Given the description of an element on the screen output the (x, y) to click on. 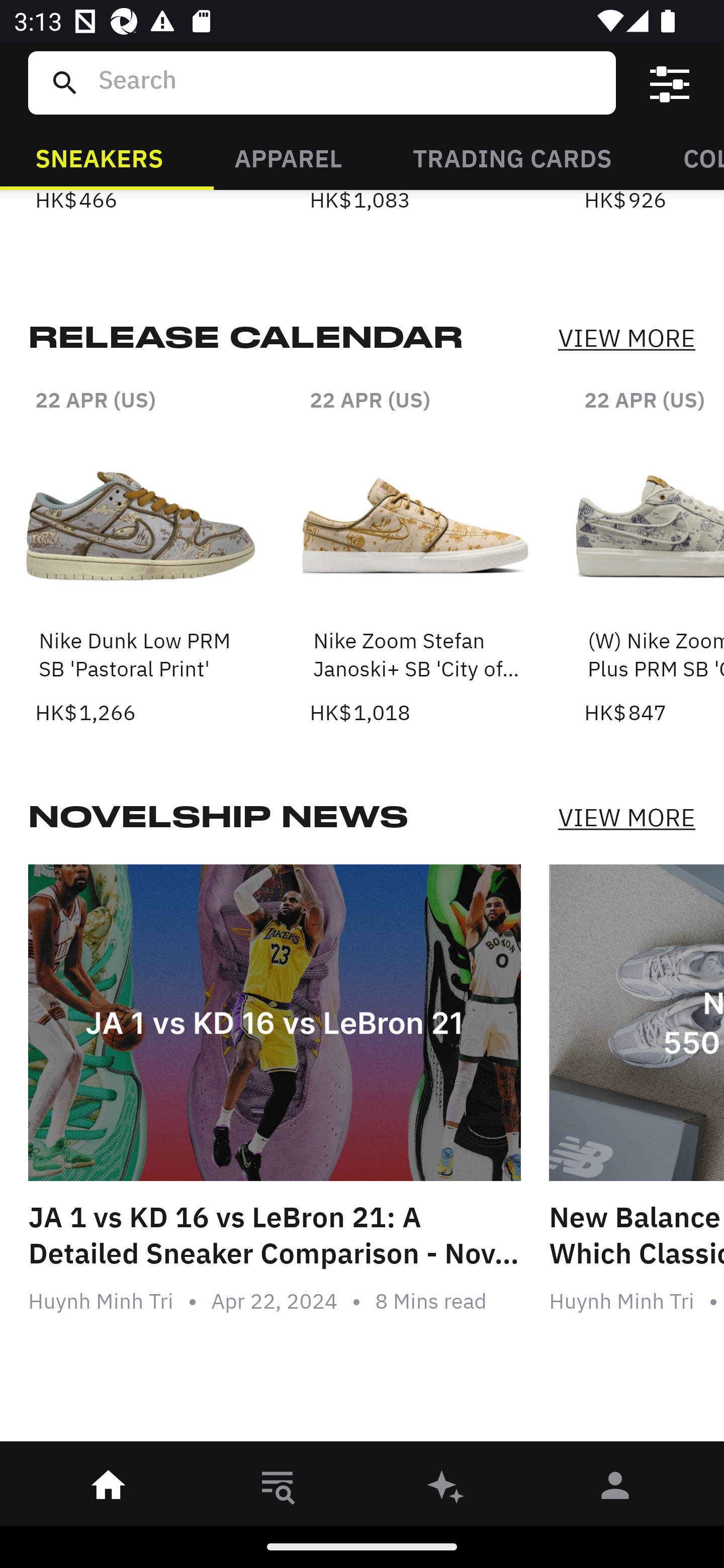
Search (349, 82)
 (669, 82)
SNEAKERS (99, 156)
APPAREL (287, 156)
TRADING CARDS (512, 156)
VIEW MORE (626, 338)
VIEW MORE (626, 816)
󰋜 (108, 1488)
󱎸 (277, 1488)
󰫢 (446, 1488)
󰀄 (615, 1488)
